Given the description of an element on the screen output the (x, y) to click on. 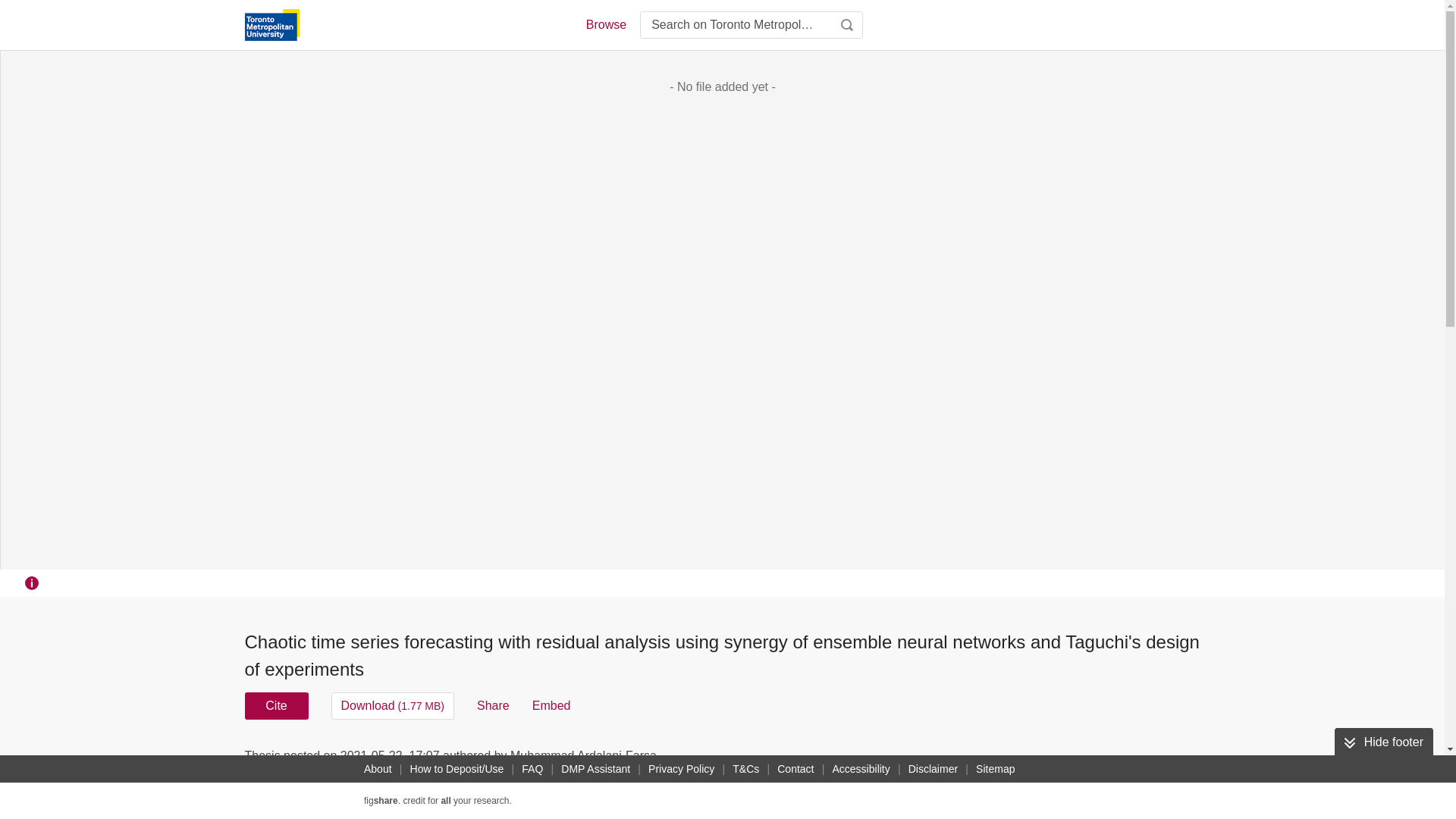
DMP Assistant (595, 769)
Browse (605, 24)
Accessibility (861, 769)
USAGE METRICS (976, 759)
Hide footer (1383, 742)
Share (493, 705)
Contact (795, 769)
Privacy Policy (681, 769)
FAQ (531, 769)
About (377, 769)
